Given the description of an element on the screen output the (x, y) to click on. 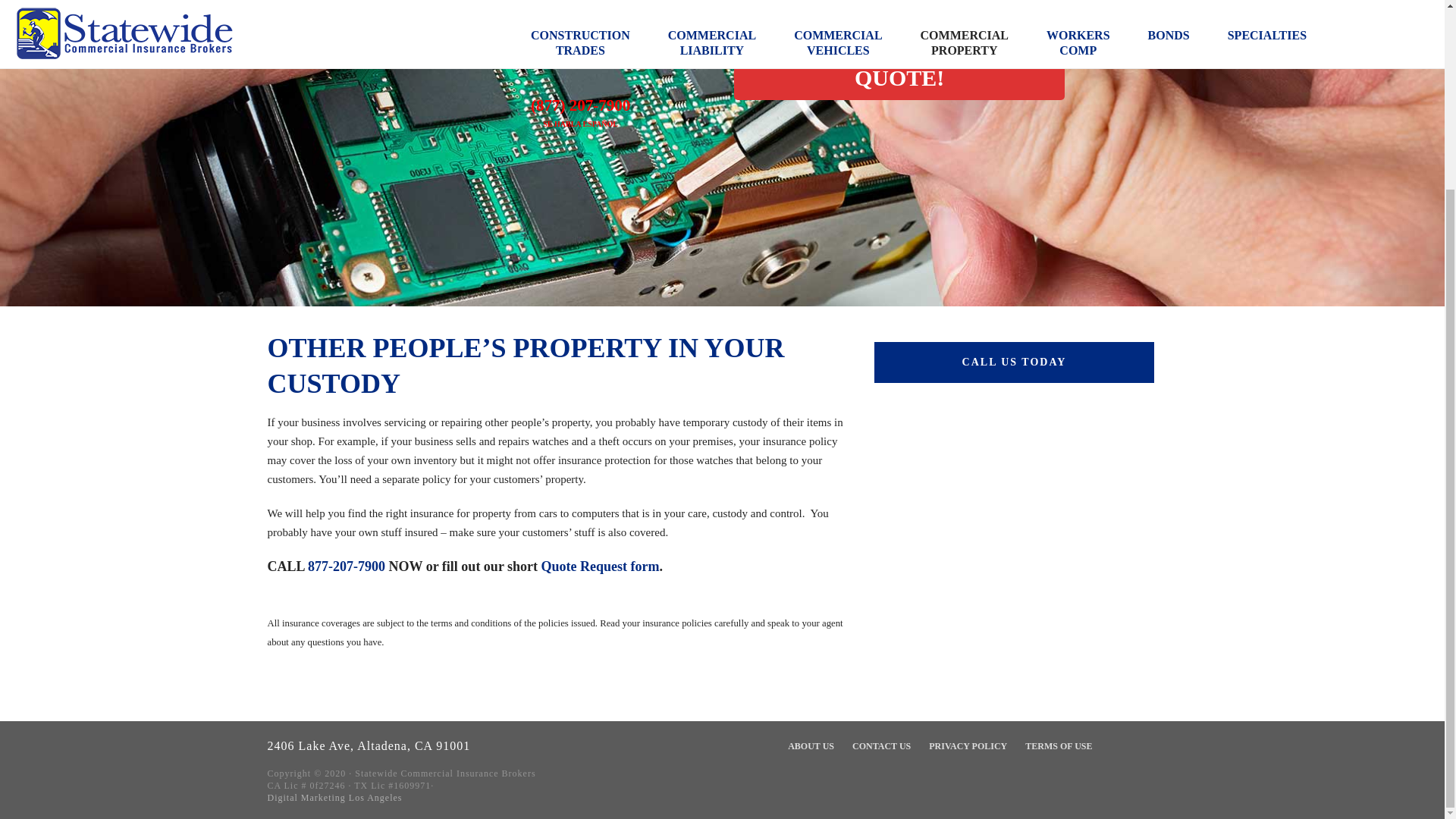
Privacy Policy (967, 746)
CALL US TODAY (1013, 362)
